Given the description of an element on the screen output the (x, y) to click on. 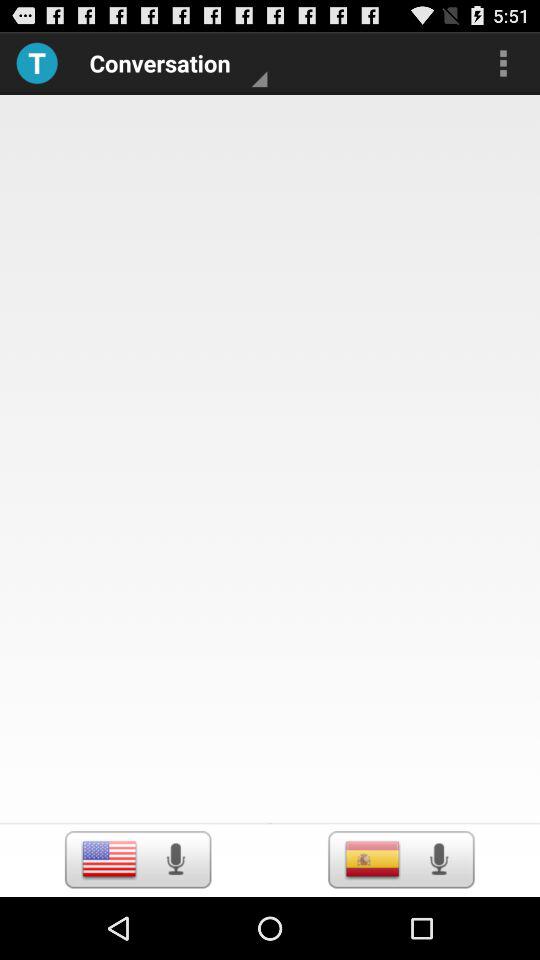
spain flag (372, 859)
